Given the description of an element on the screen output the (x, y) to click on. 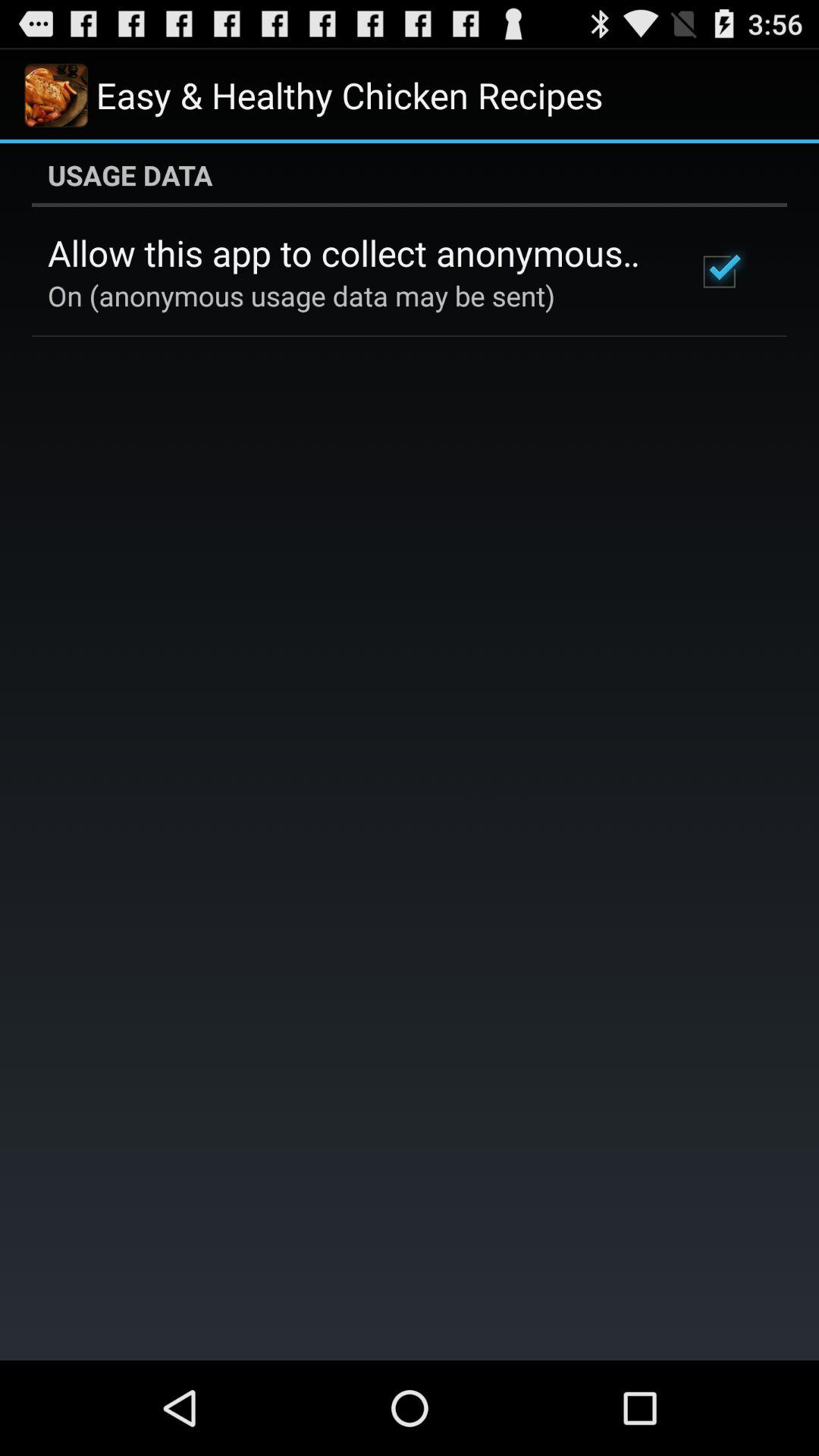
launch the allow this app icon (351, 252)
